Given the description of an element on the screen output the (x, y) to click on. 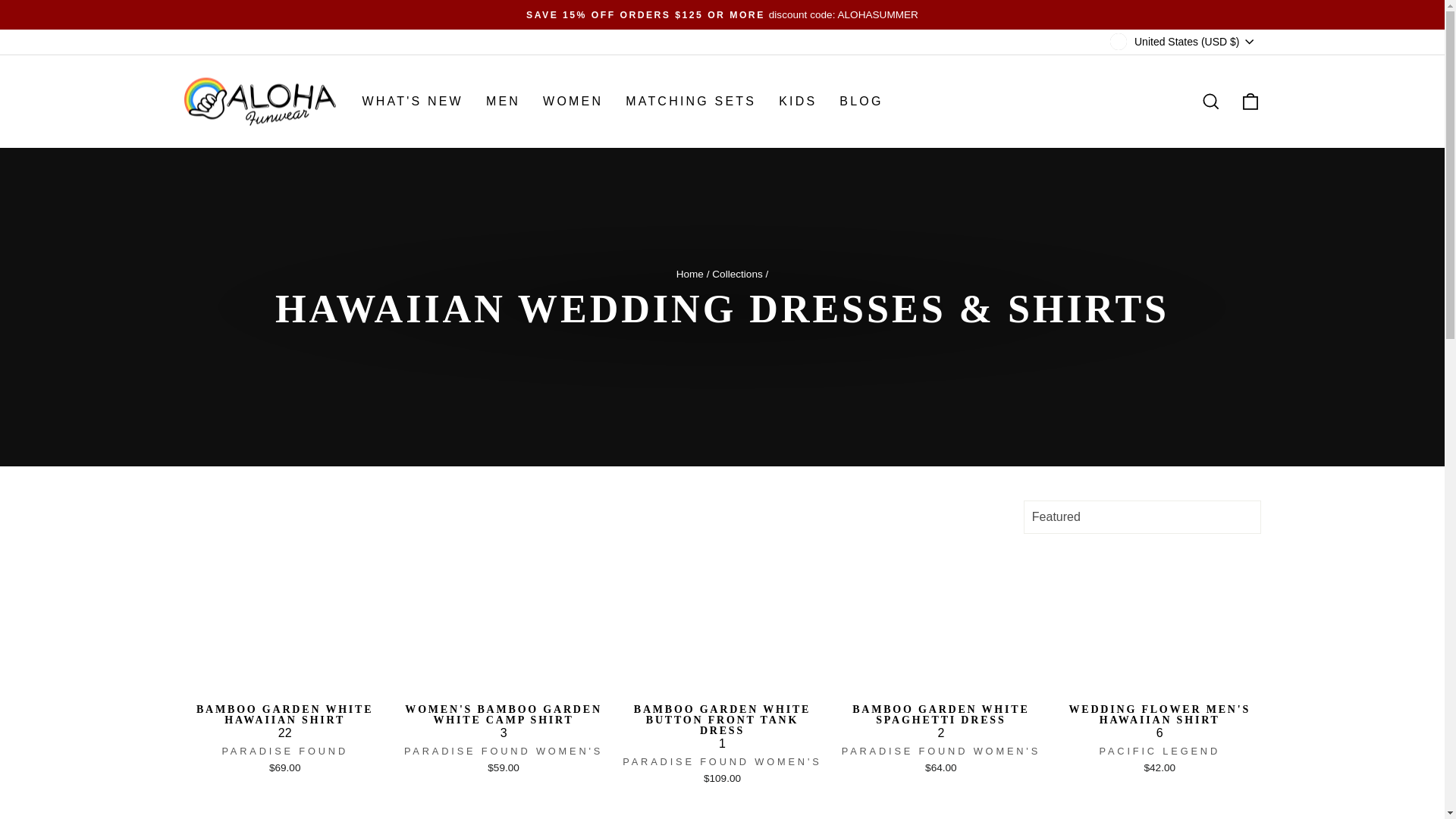
Back to the frontpage (690, 274)
